Given the description of an element on the screen output the (x, y) to click on. 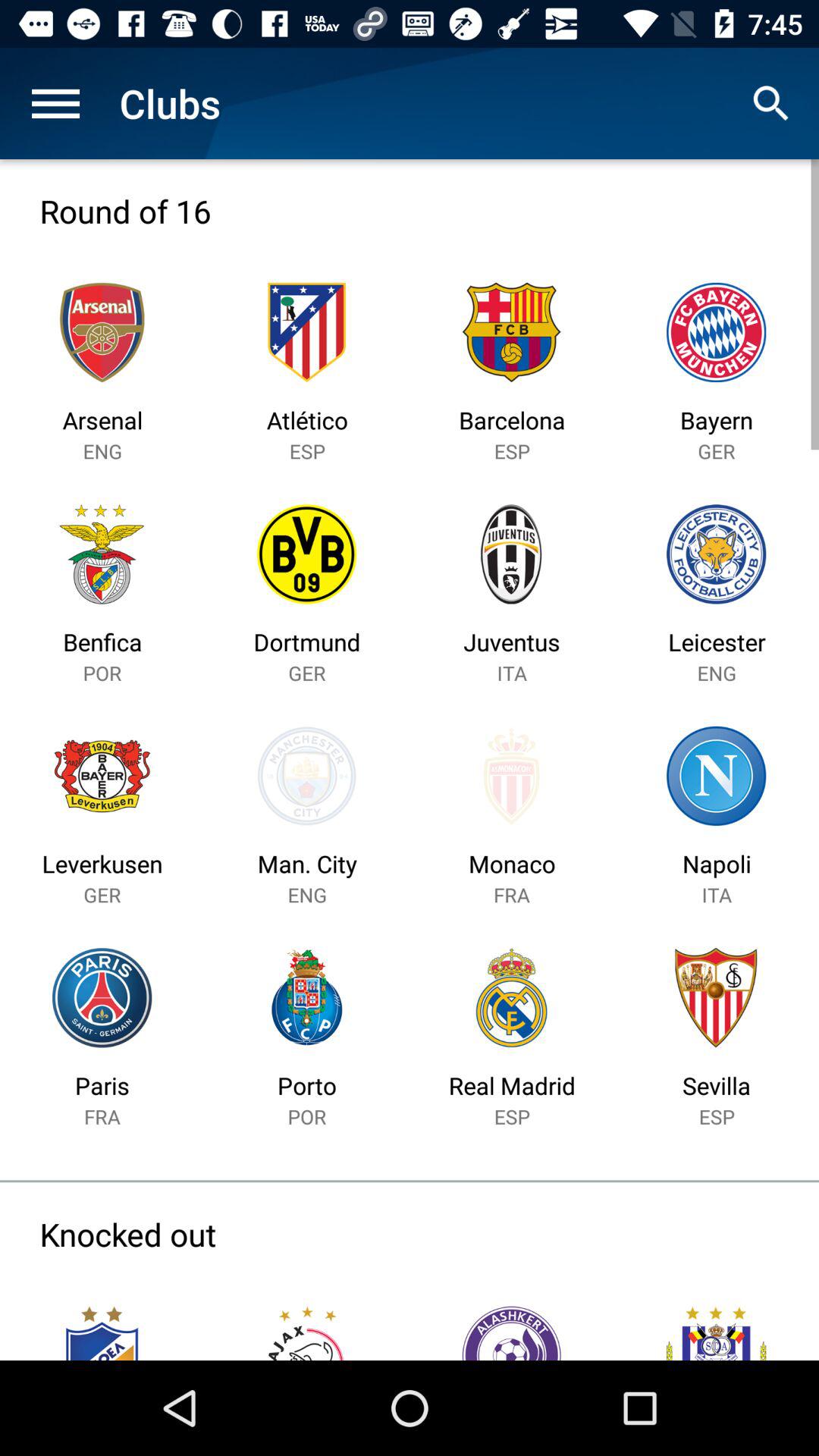
menu button bar option (55, 103)
